Given the description of an element on the screen output the (x, y) to click on. 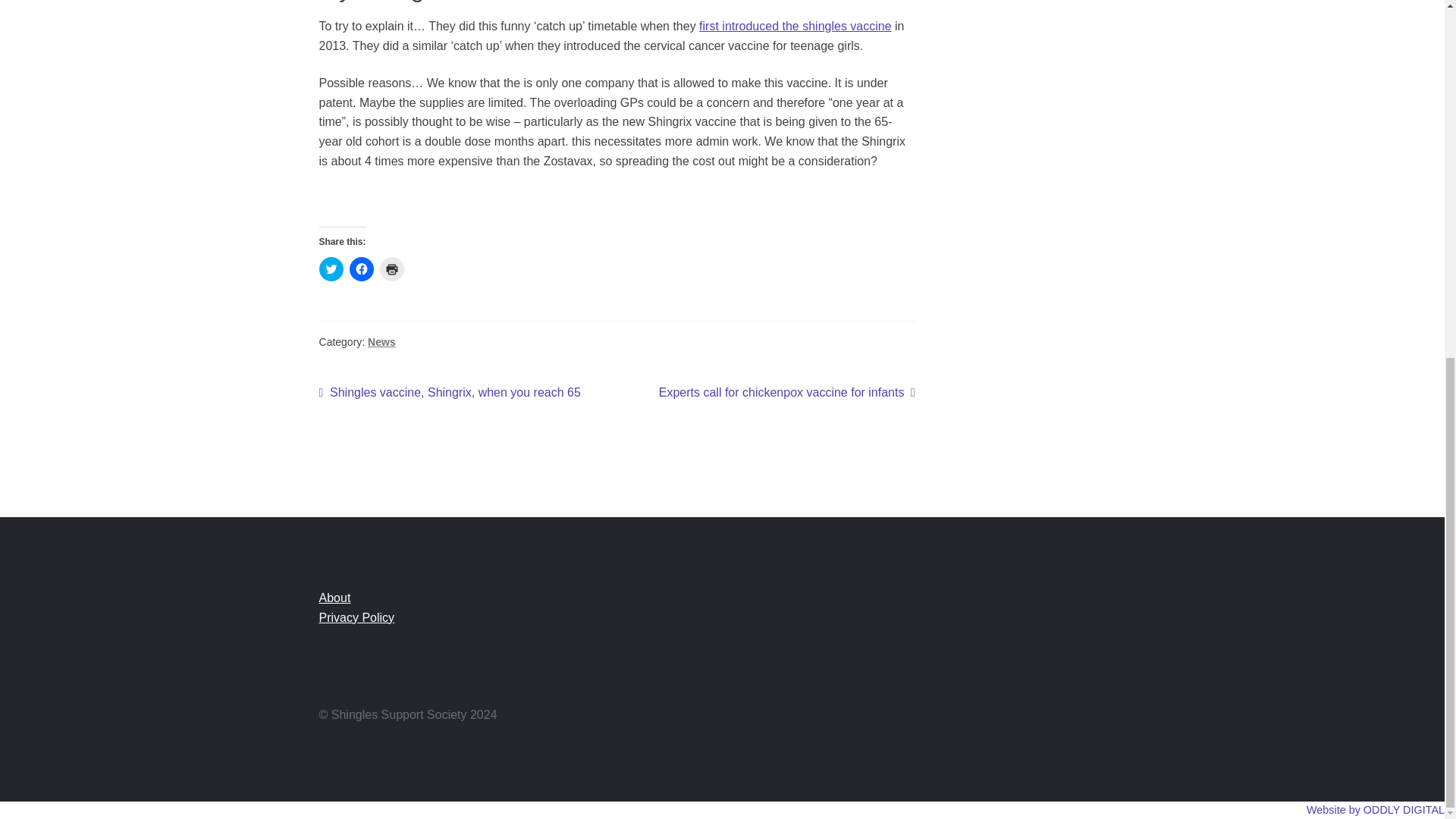
Click to print (392, 269)
Privacy Policy (356, 617)
News (382, 341)
Click to share on Twitter (330, 269)
About (334, 597)
first introduced the shingles vaccine (794, 25)
Click to share on Facebook (449, 392)
